Given the description of an element on the screen output the (x, y) to click on. 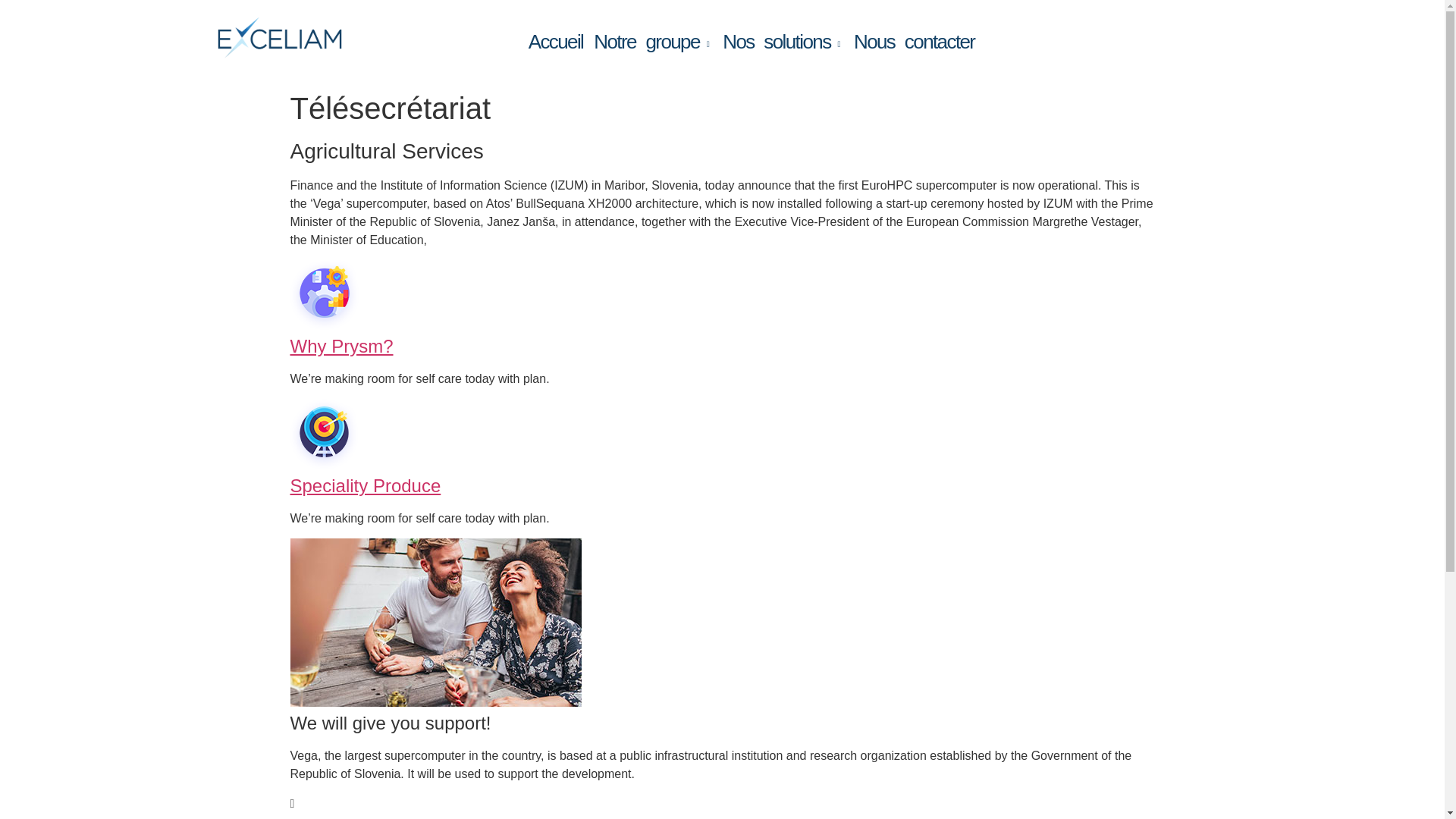
Nos solutions (782, 41)
Speciality Produce (365, 485)
Why Prysm? (341, 345)
Notre groupe (652, 41)
Accueil (555, 41)
Nous contacter (913, 41)
